Given the description of an element on the screen output the (x, y) to click on. 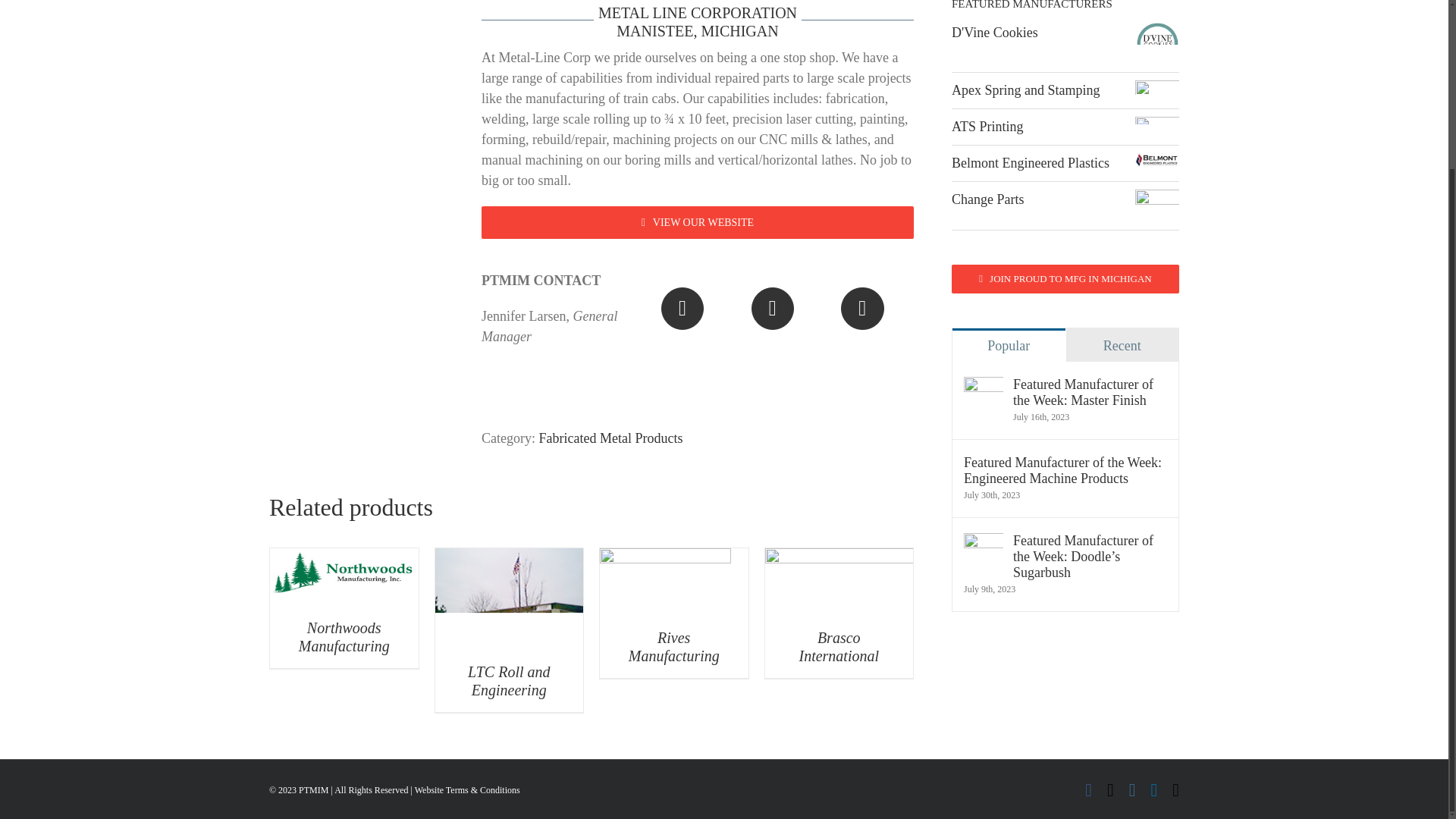
Northwoods Manufacturing (697, 331)
VIEW OUR WEBSITE (344, 636)
Fabricated Metal Products (697, 222)
